Given the description of an element on the screen output the (x, y) to click on. 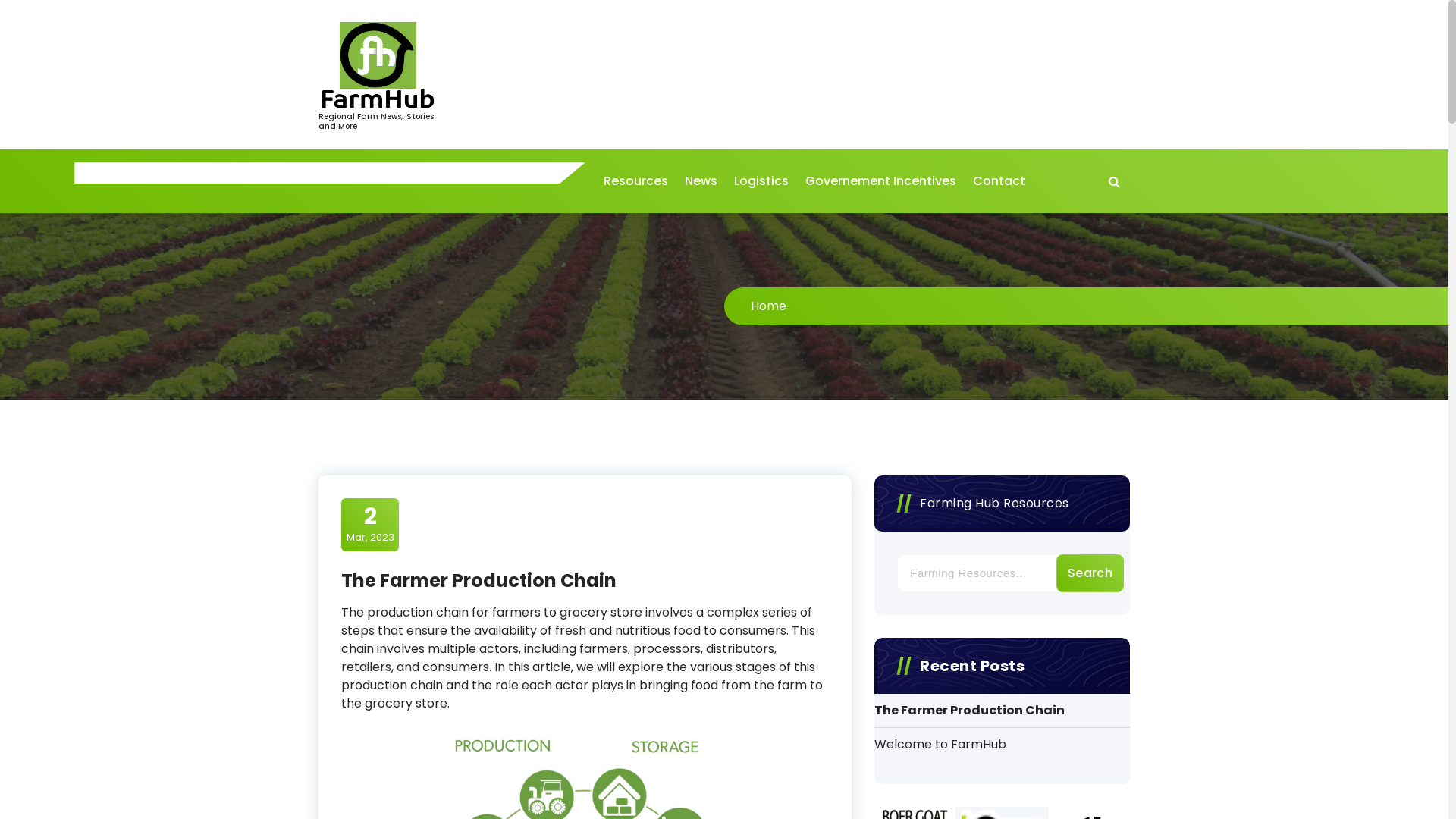
Resources Element type: text (635, 181)
Search Element type: text (1089, 573)
Governement Incentives Element type: text (880, 181)
Logistics Element type: text (760, 181)
Welcome to FarmHub Element type: text (940, 744)
The Farmer Production Chain Element type: text (478, 580)
News Element type: text (700, 181)
Contact Element type: text (998, 181)
The Farmer Production Chain Element type: text (969, 710)
2
Mar, 2023 Element type: text (370, 524)
Home Element type: text (768, 305)
